Given the description of an element on the screen output the (x, y) to click on. 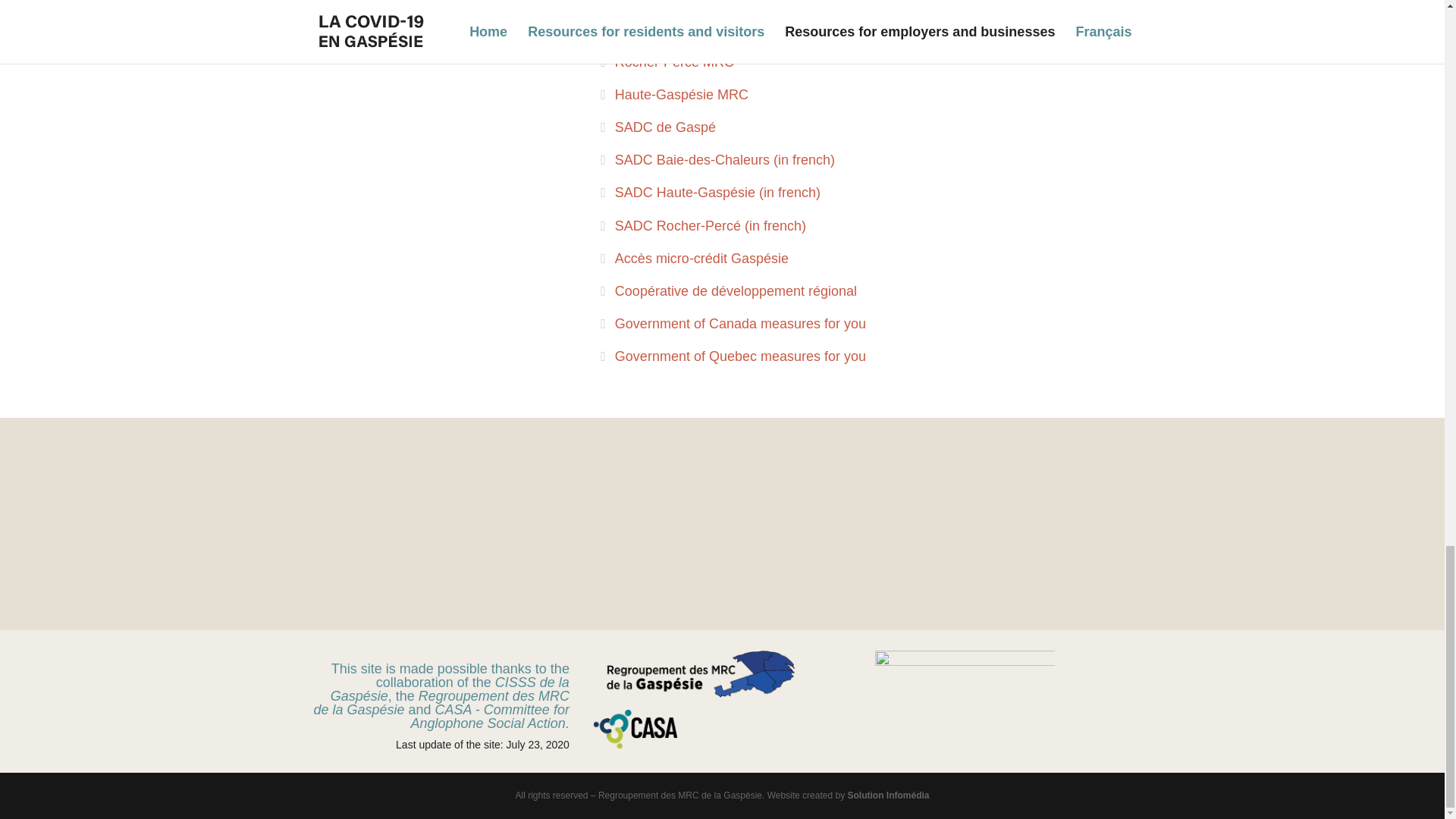
Government of Quebec measures for you (732, 355)
Government of Canada measures for you (732, 323)
Avignon MRC (648, 2)
Avignon MRC (648, 2)
